Given the description of an element on the screen output the (x, y) to click on. 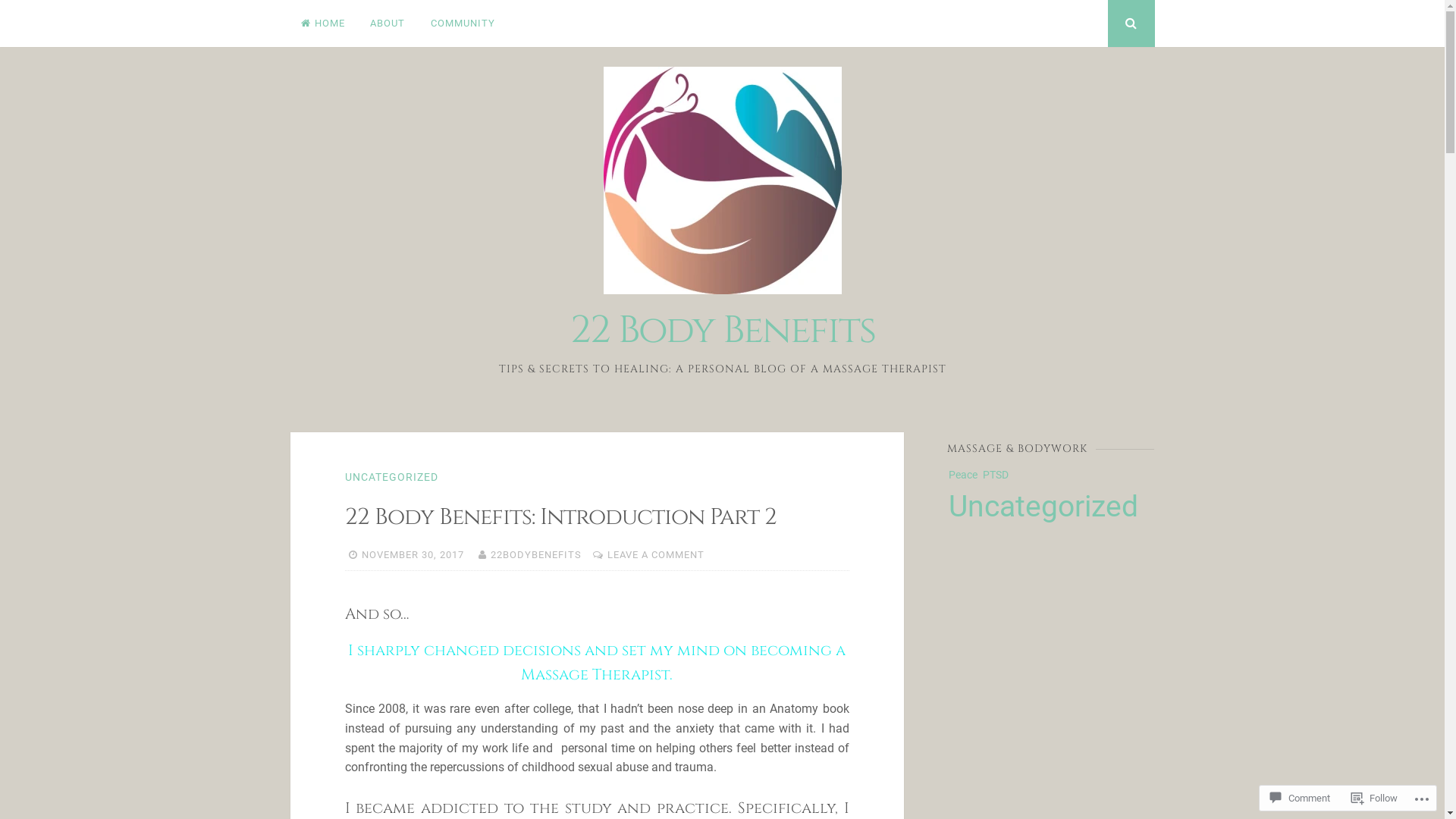
LEAVE A COMMENT Element type: text (655, 554)
NOVEMBER 30, 2017 Element type: text (411, 554)
UNCATEGORIZED Element type: text (390, 476)
ABOUT Element type: text (387, 23)
Uncategorized Element type: text (1043, 506)
22 Body Benefits Element type: text (722, 330)
22BODYBENEFITS Element type: text (535, 554)
COMMUNITY Element type: text (462, 23)
HOME Element type: text (322, 23)
Peace Element type: text (962, 474)
PTSD Element type: text (995, 474)
Follow Element type: text (1374, 797)
Comment Element type: text (1300, 797)
